Given the description of an element on the screen output the (x, y) to click on. 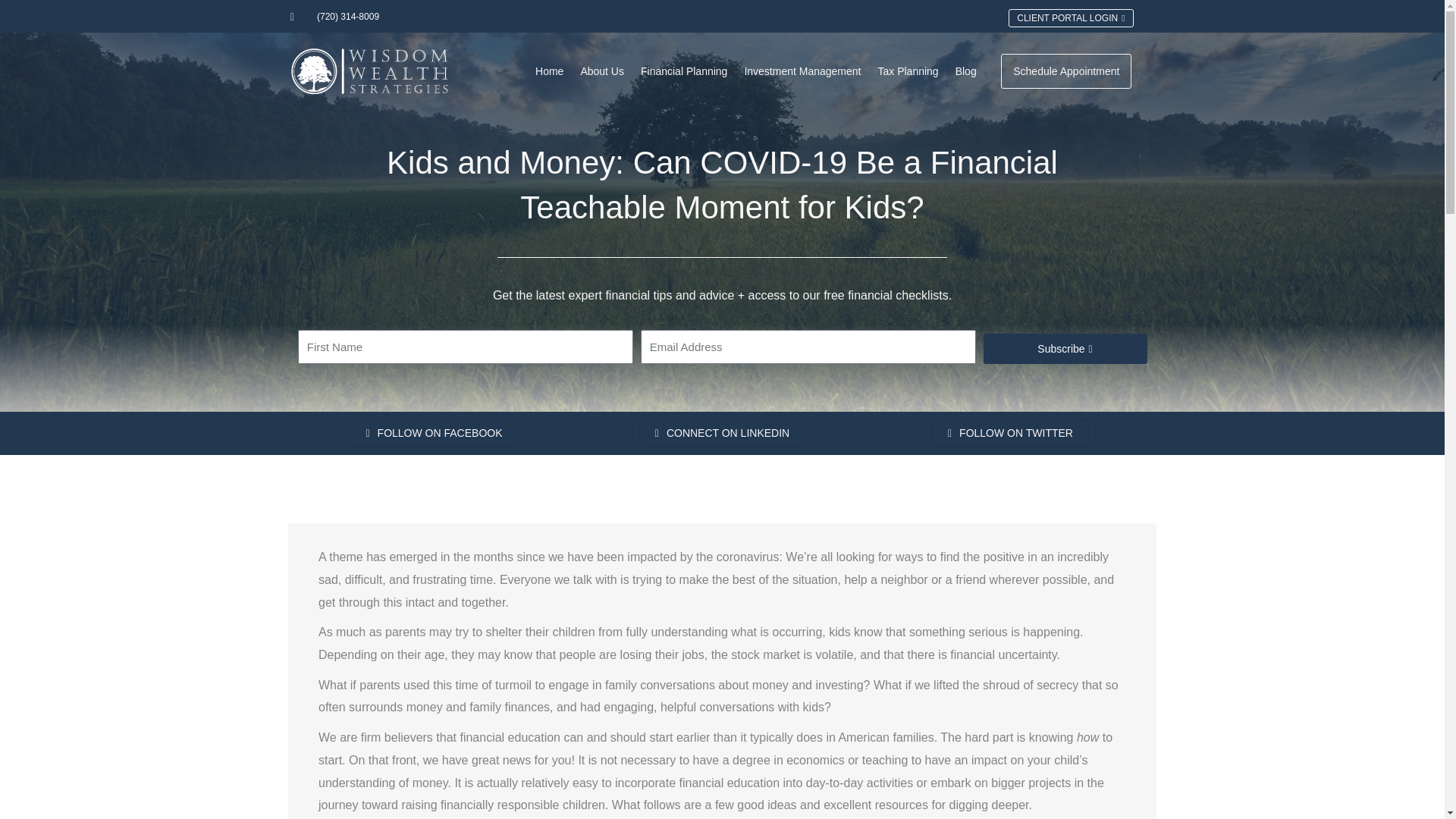
Financial Planning (683, 71)
Investment Management (802, 71)
Home (549, 71)
Blog (966, 71)
Schedule Appointment (1066, 71)
CONNECT ON LINKEDIN (722, 433)
FOLLOW ON TWITTER (1010, 433)
FOLLOW ON FACEBOOK (433, 433)
About Us (601, 71)
Subscribe (1064, 348)
CLIENT PORTAL LOGIN (1070, 18)
Tax Planning (907, 71)
